Given the description of an element on the screen output the (x, y) to click on. 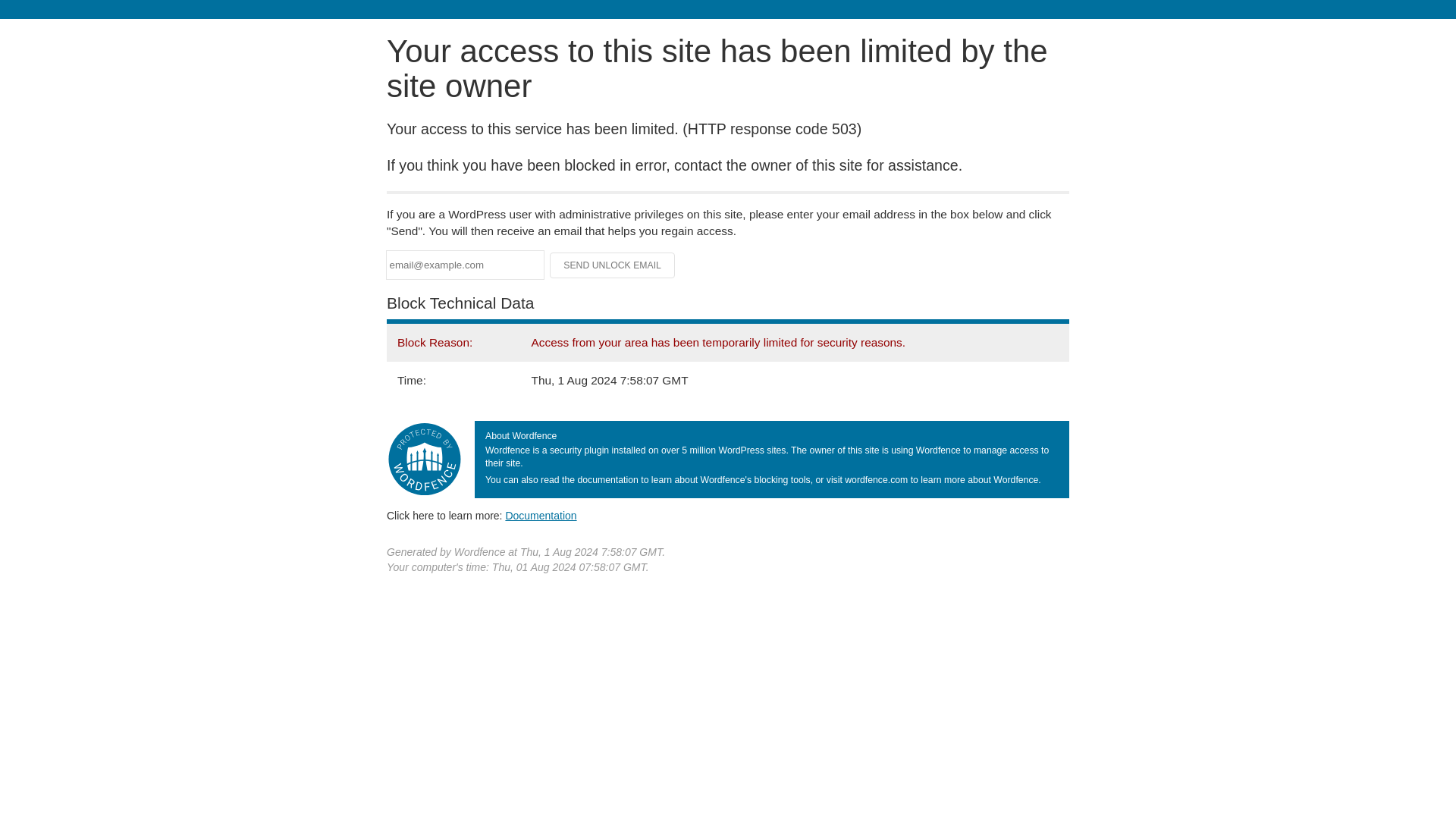
Documentation (540, 515)
Send Unlock Email (612, 265)
Send Unlock Email (612, 265)
